Given the description of an element on the screen output the (x, y) to click on. 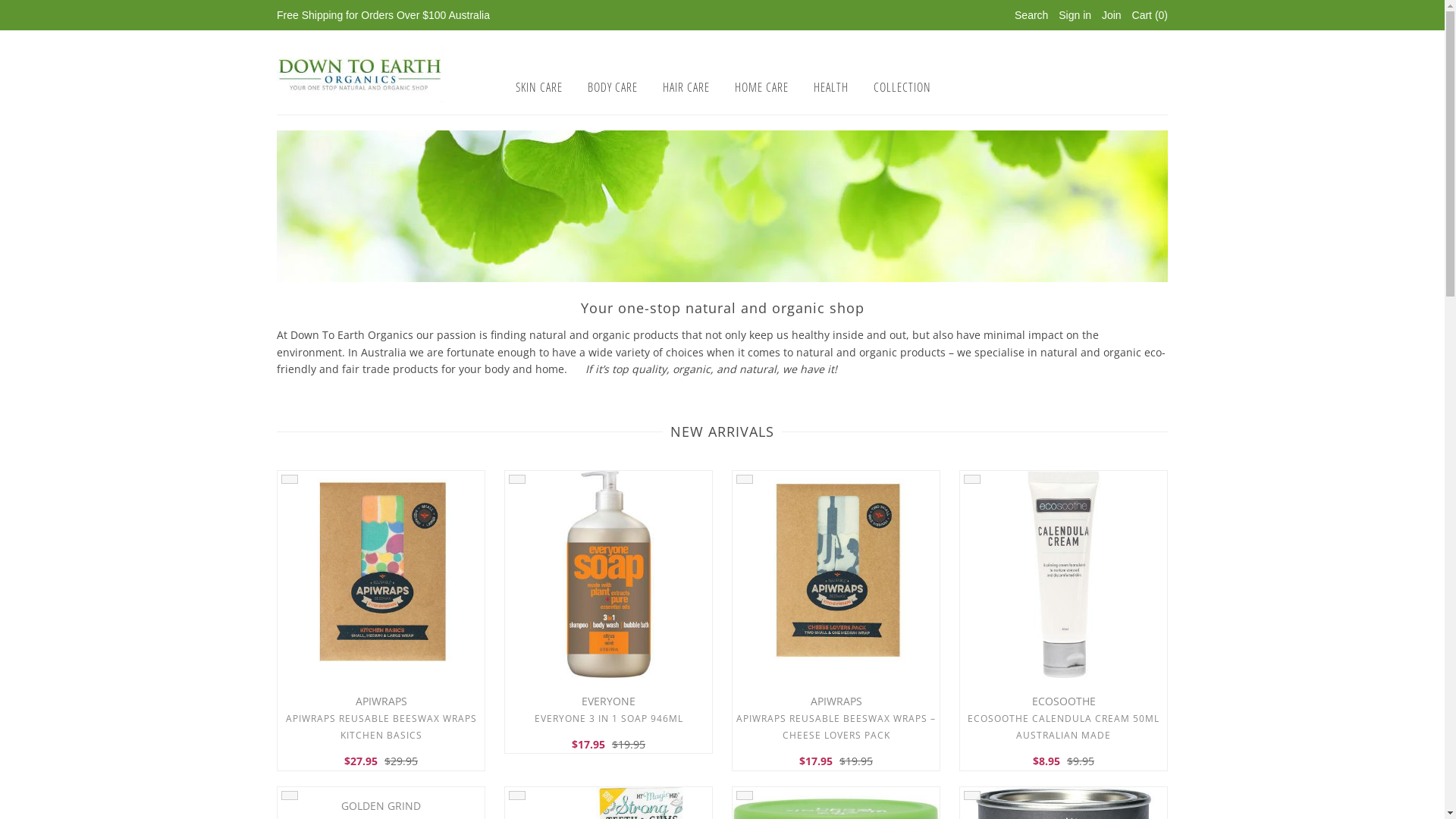
Sign in Element type: text (1074, 15)
HEALTH Element type: text (830, 87)
COLLECTION Element type: text (902, 87)
EVERYONE
EVERYONE 3 IN 1 SOAP 946ML Element type: text (608, 710)
ECOSOOTHE
ECOSOOTHE CALENDULA CREAM 50ML AUSTRALIAN MADE Element type: text (1063, 718)
HOME CARE Element type: text (761, 87)
SKIN CARE Element type: text (539, 87)
HAIR CARE Element type: text (686, 87)
APIWRAPS
APIWRAPS REUSABLE BEESWAX WRAPS KITCHEN BASICS Element type: text (380, 718)
Join Element type: text (1111, 15)
Cart (0) Element type: text (1149, 15)
BODY CARE Element type: text (612, 87)
